Given the description of an element on the screen output the (x, y) to click on. 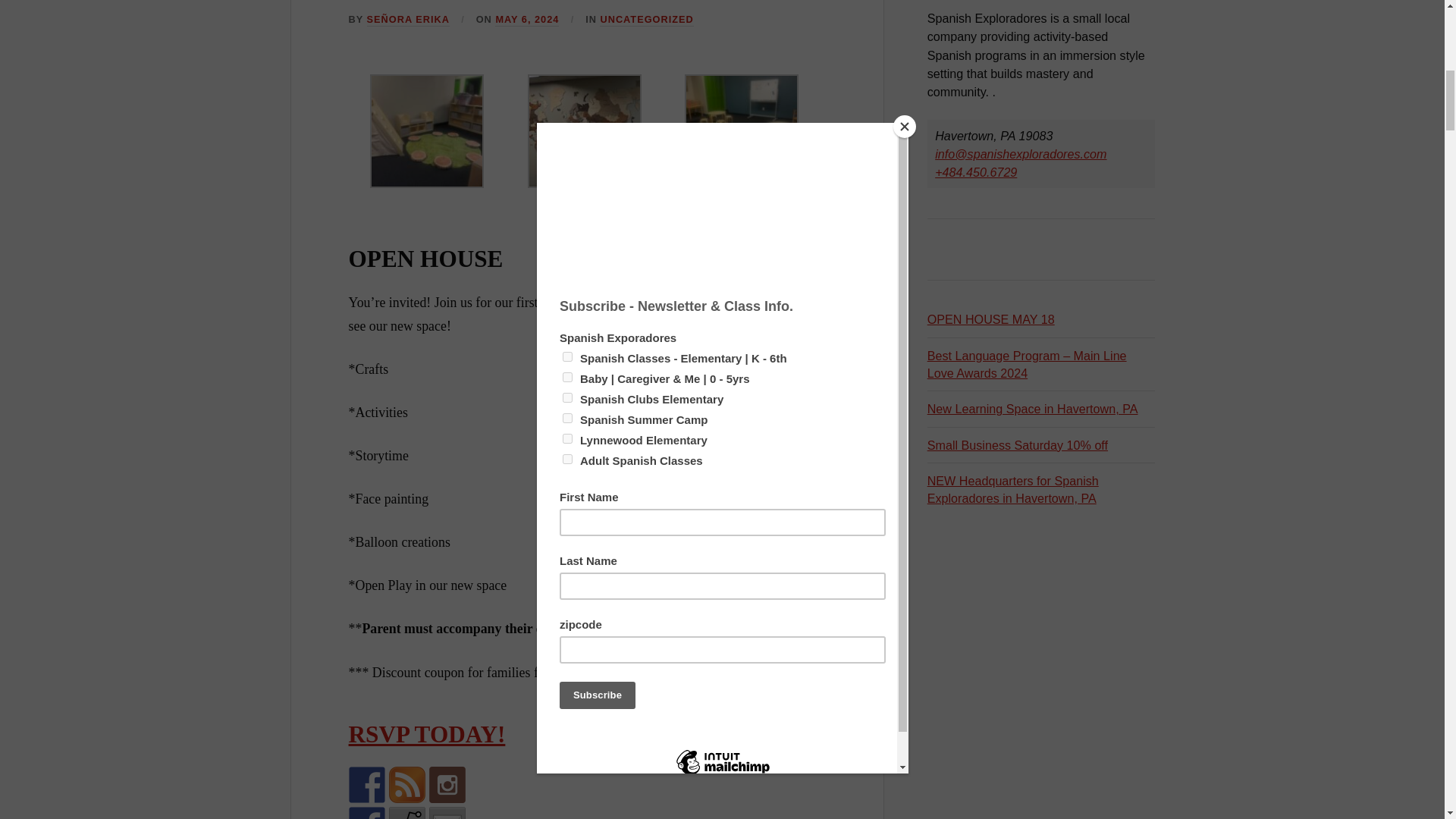
Share by email (447, 812)
Follow us on Facebook (367, 784)
Check out our instagram feed (447, 784)
Share on Facebook (367, 812)
Subscribe to our RSS Feed (406, 784)
Share on Reddit (406, 812)
